Given the description of an element on the screen output the (x, y) to click on. 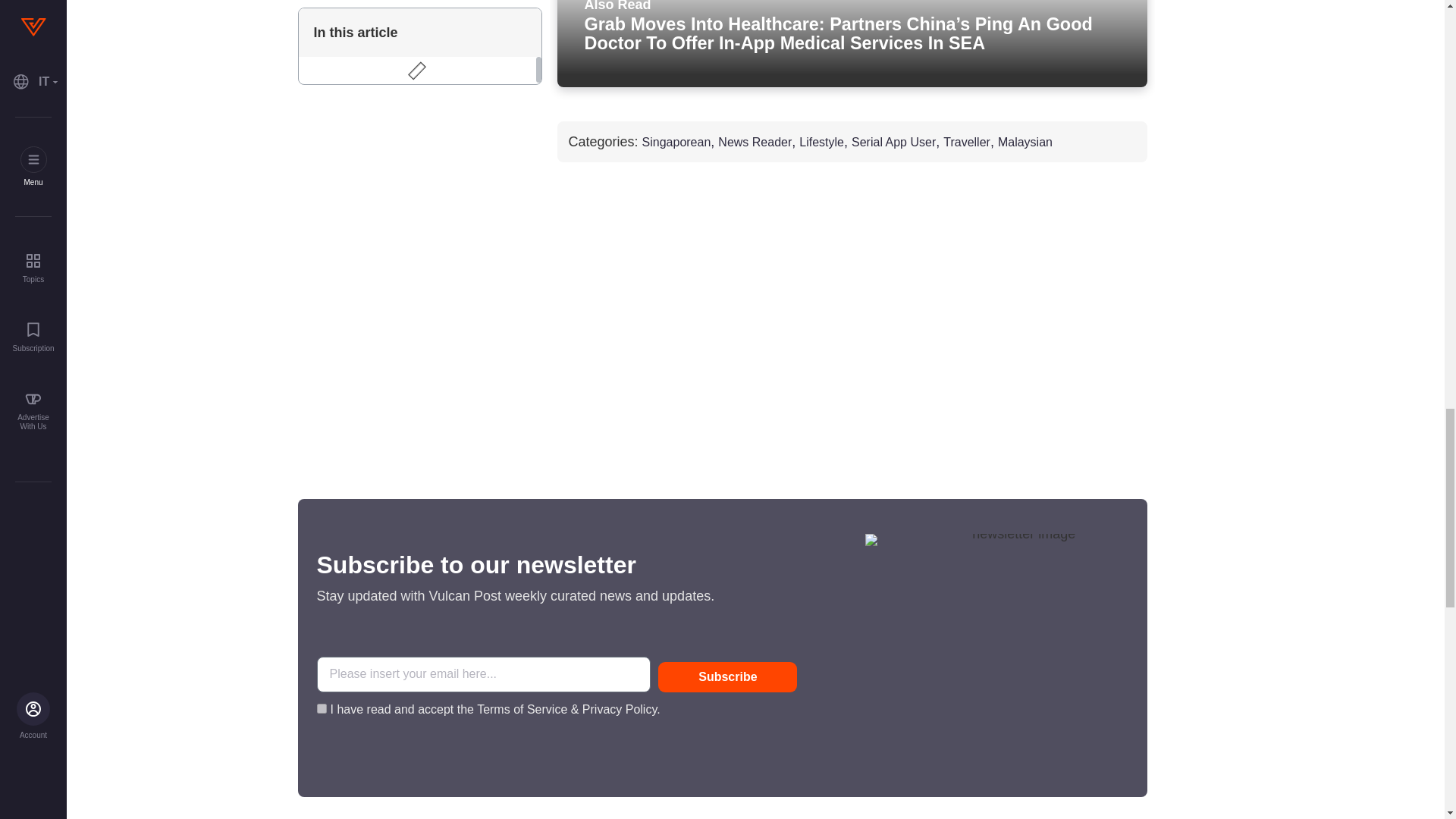
Serial App User (893, 142)
News Reader (754, 142)
Lifestyle (821, 142)
Traveller (966, 142)
Subscribe (727, 676)
on (321, 708)
Malaysian (1024, 142)
Singaporean (676, 142)
